Given the description of an element on the screen output the (x, y) to click on. 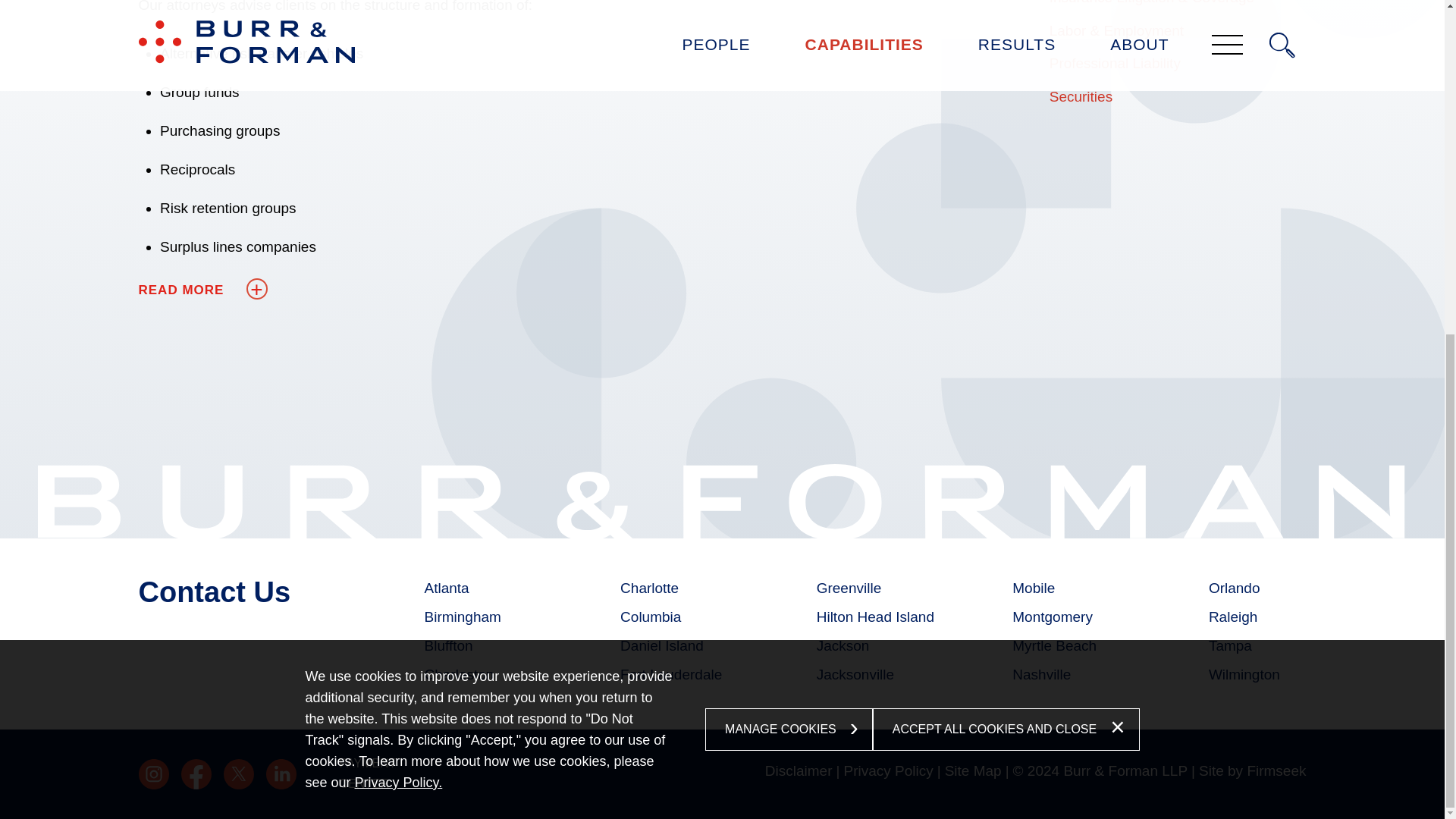
Instagram (153, 774)
Facebook (195, 774)
Twitter (237, 774)
Linkedin (279, 774)
